Given the description of an element on the screen output the (x, y) to click on. 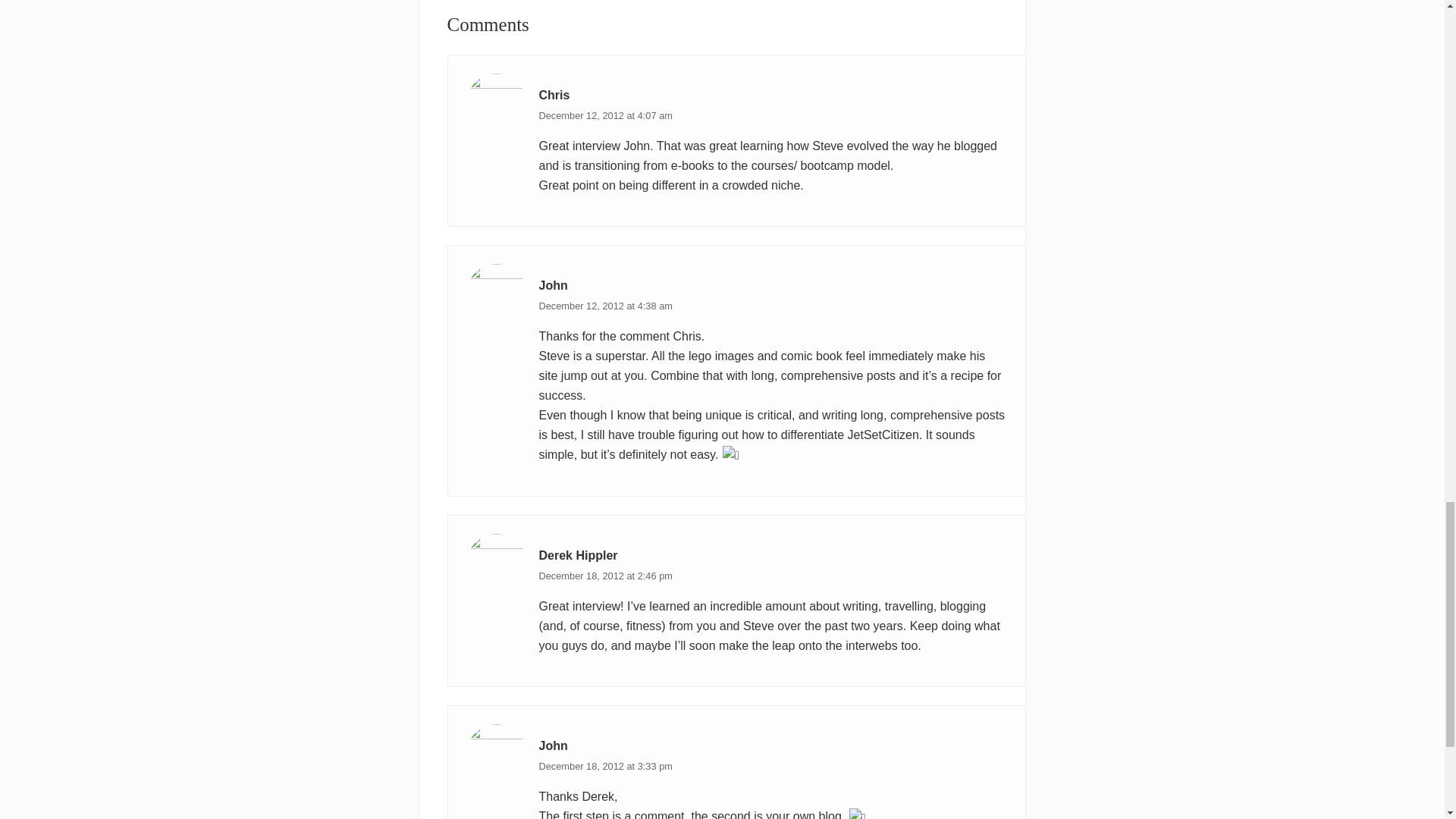
December 18, 2012 at 2:46 pm (604, 575)
John (552, 285)
December 12, 2012 at 4:38 am (604, 306)
John (552, 745)
December 12, 2012 at 4:07 am (604, 115)
Chris (553, 94)
December 18, 2012 at 3:33 pm (604, 766)
